Given the description of an element on the screen output the (x, y) to click on. 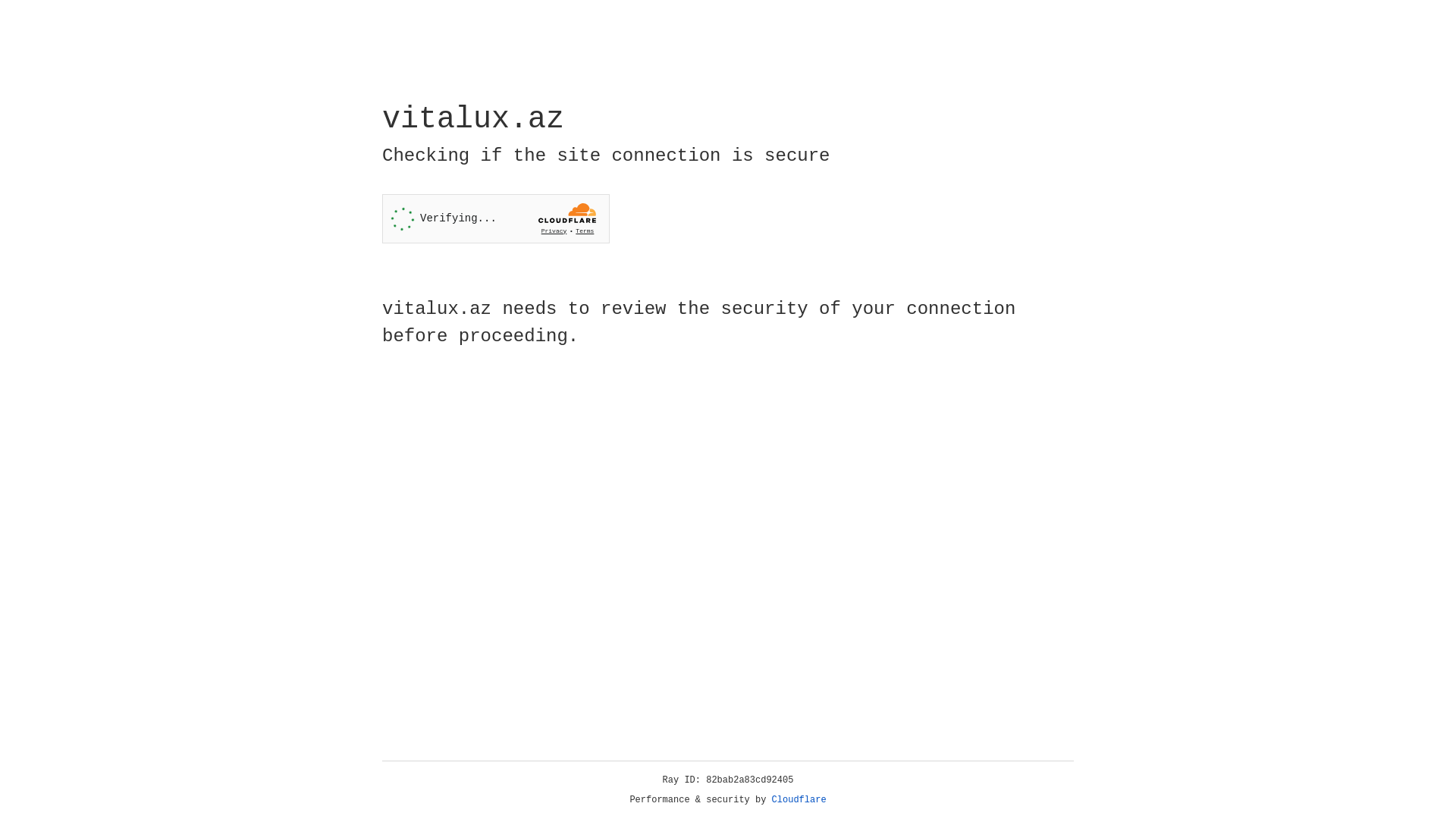
Widget containing a Cloudflare security challenge Element type: hover (495, 218)
Cloudflare Element type: text (798, 799)
